Given the description of an element on the screen output the (x, y) to click on. 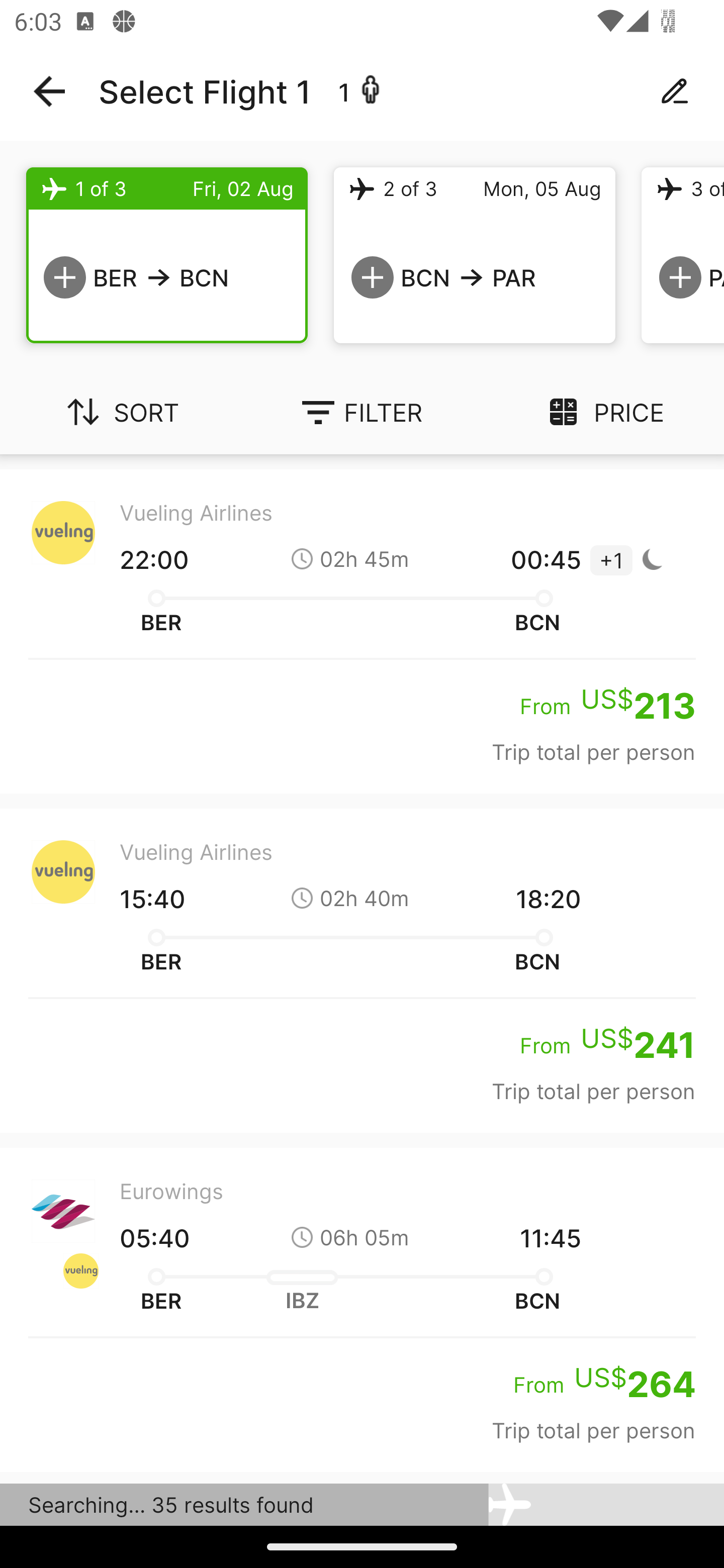
Select Flight 1   1 - (362, 91)
1 of 3 Fri, 02 Aug BER BCN (166, 255)
2 of 3 Mon, 05 Aug BCN PAR (474, 255)
3 of 3 PAR (682, 255)
SORT (120, 412)
FILTER (361, 412)
PRICE (603, 412)
Eurowings (362, 1498)
